Given the description of an element on the screen output the (x, y) to click on. 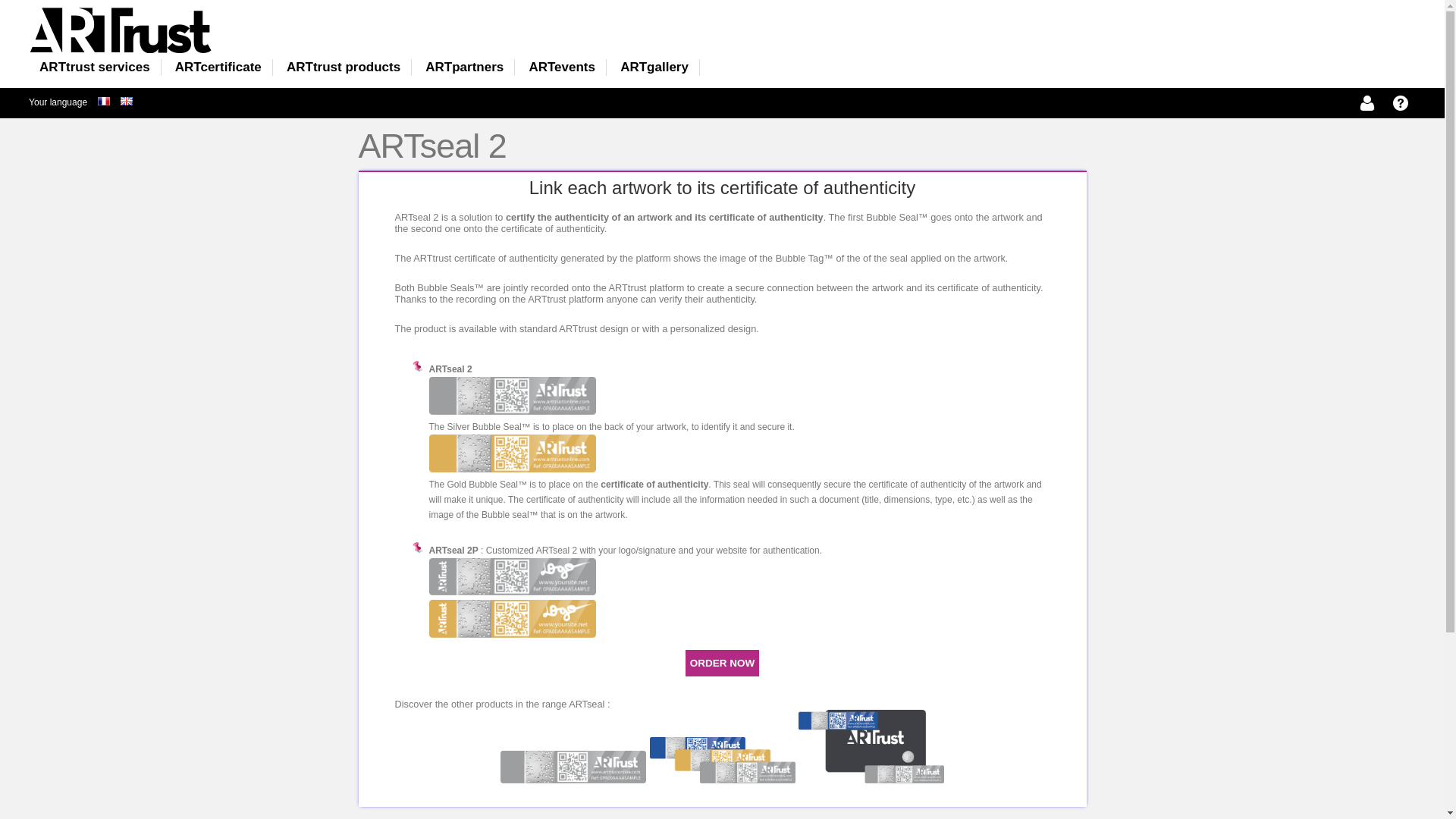
ARTgallery (654, 67)
ARTpartners (463, 67)
ORDER NOW (722, 663)
ARTevents (561, 67)
ARTtrust products (343, 67)
ARTtrust services (94, 67)
ORDER NOW (722, 663)
ARTcertificate (218, 67)
